Given the description of an element on the screen output the (x, y) to click on. 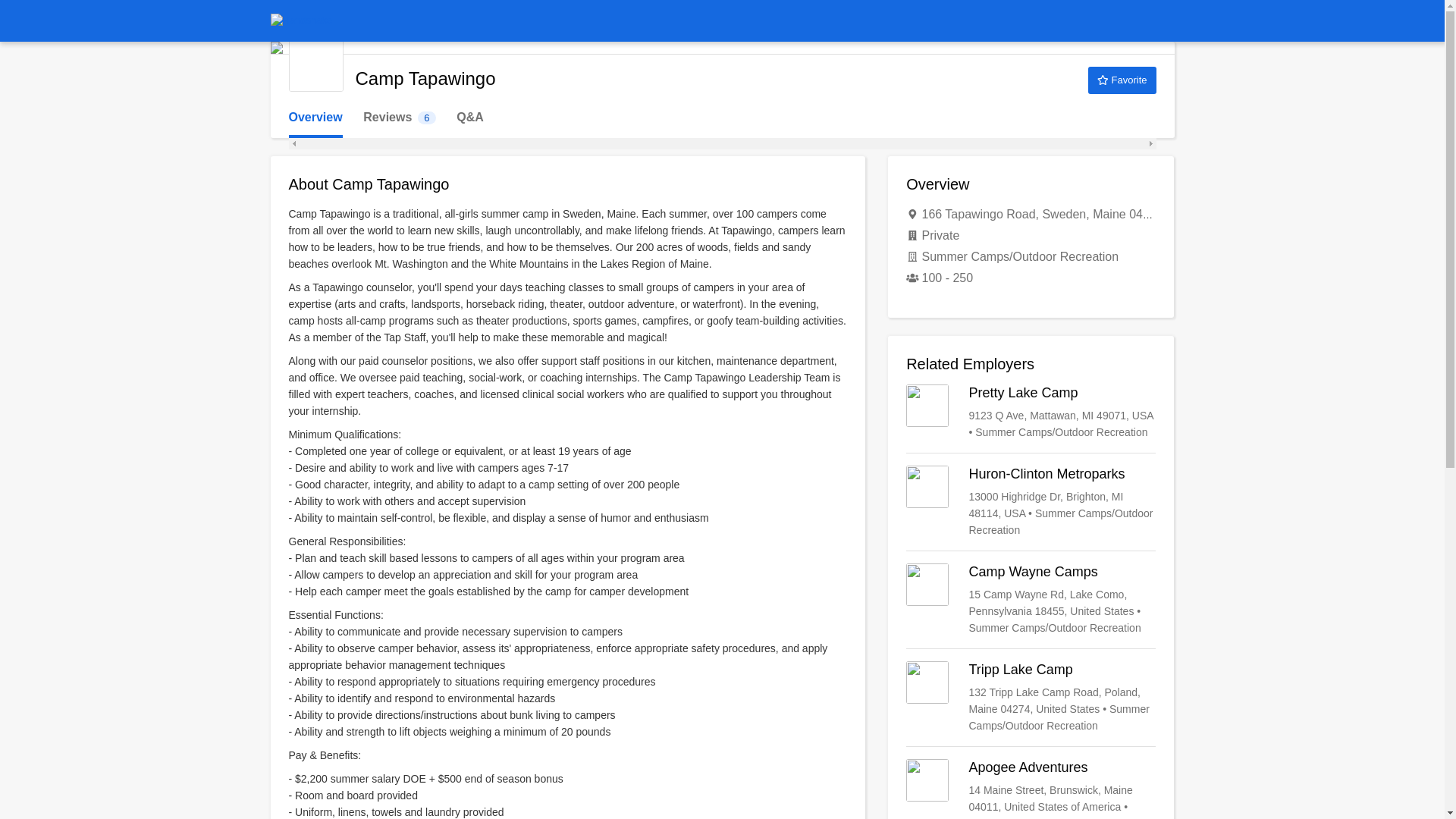
Huron-Clinton Metroparks (1030, 502)
Pretty Lake Camp (1030, 412)
Favorite (1121, 80)
Overview (315, 117)
Apogee Adventures (1030, 789)
Tripp Lake Camp (398, 117)
Camp Tapawingo (1030, 696)
Camp Wayne Camps (315, 63)
